Given the description of an element on the screen output the (x, y) to click on. 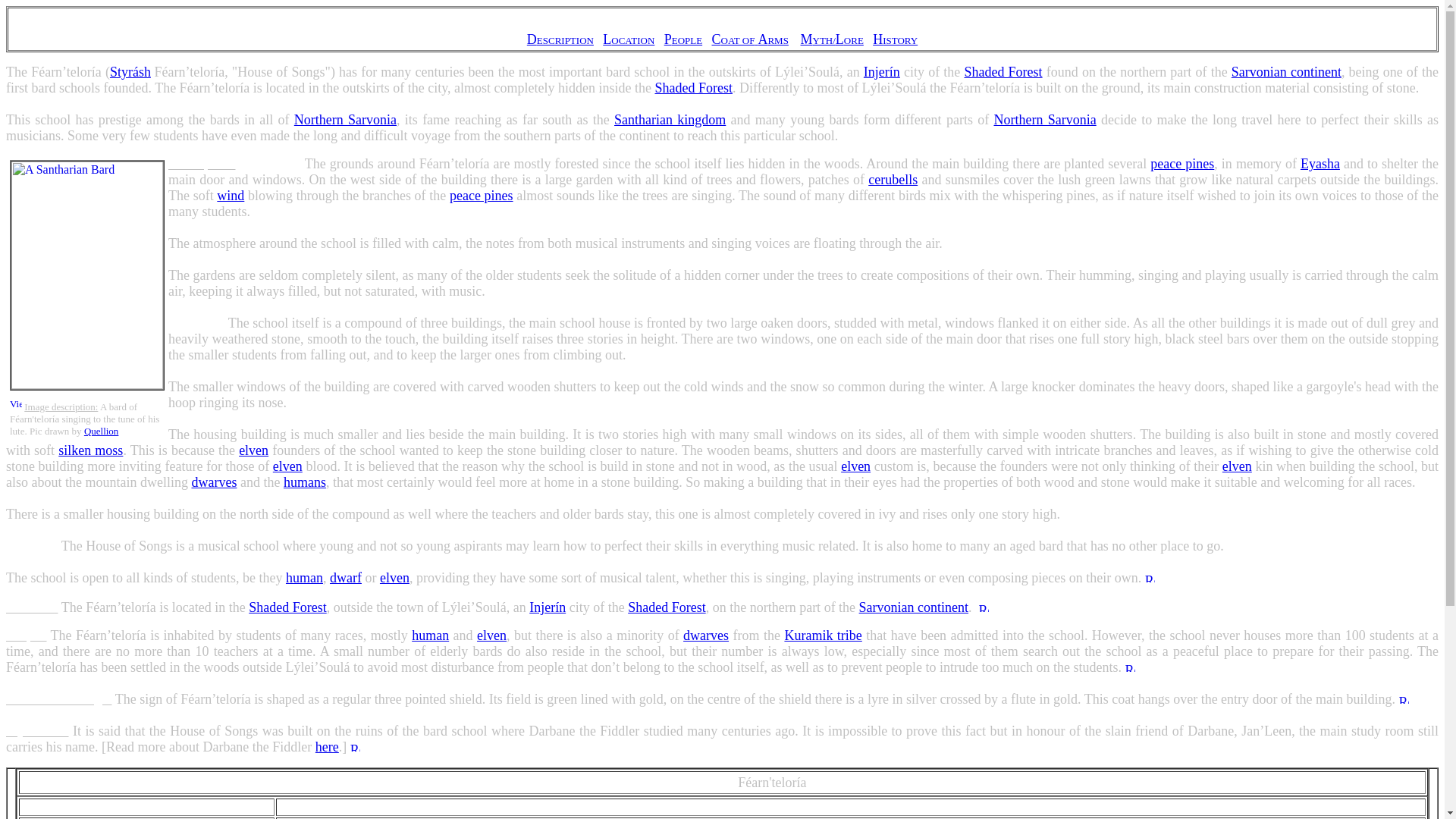
Sarvonian continent (1285, 71)
peace pines (1182, 163)
Shaded Forest (1002, 71)
Description (199, 163)
peace pines (481, 195)
DESCRIPTION (560, 39)
elven (855, 466)
LOCATION (627, 39)
elven (1237, 466)
wind (230, 195)
